Given the description of an element on the screen output the (x, y) to click on. 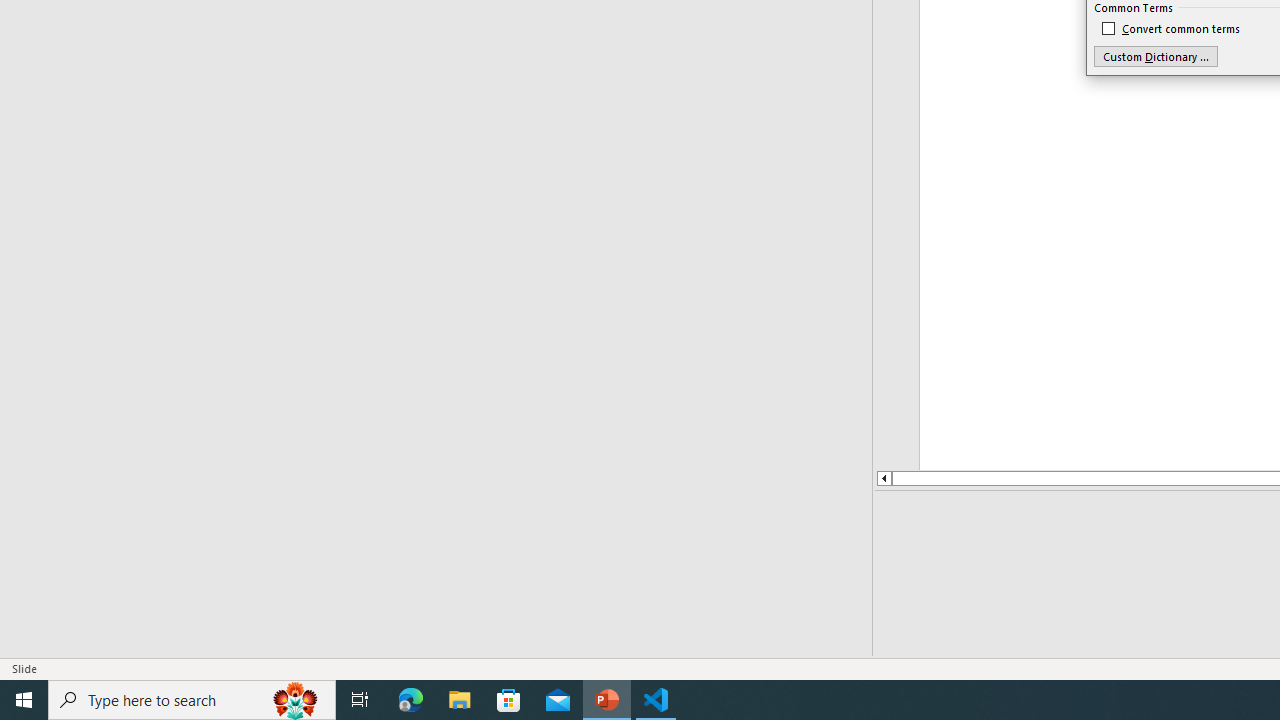
Microsoft Edge (411, 699)
Custom Dictionary ... (1155, 55)
Convert common terms (1171, 28)
